Given the description of an element on the screen output the (x, y) to click on. 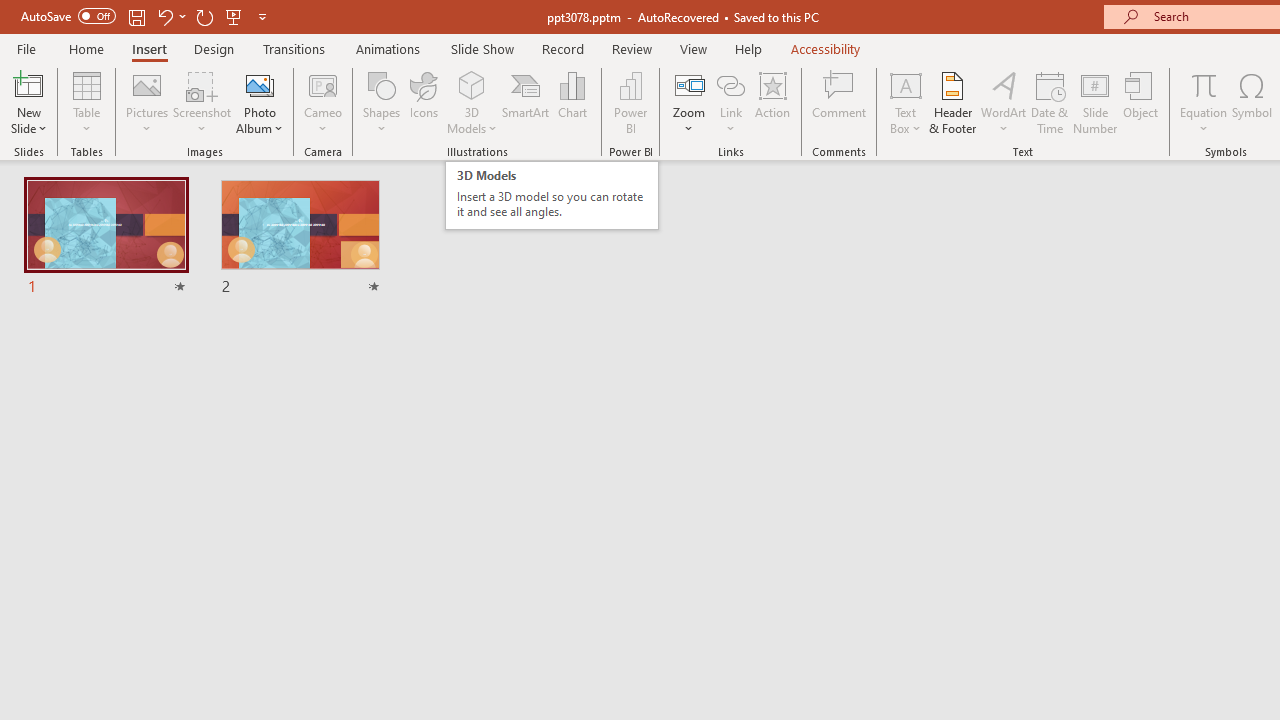
Link (731, 84)
Draw Horizontal Text Box (905, 84)
3D Models (472, 84)
Pictures (147, 102)
Chart... (572, 102)
SmartArt... (525, 102)
New Photo Album... (259, 84)
Power BI (630, 102)
